Given the description of an element on the screen output the (x, y) to click on. 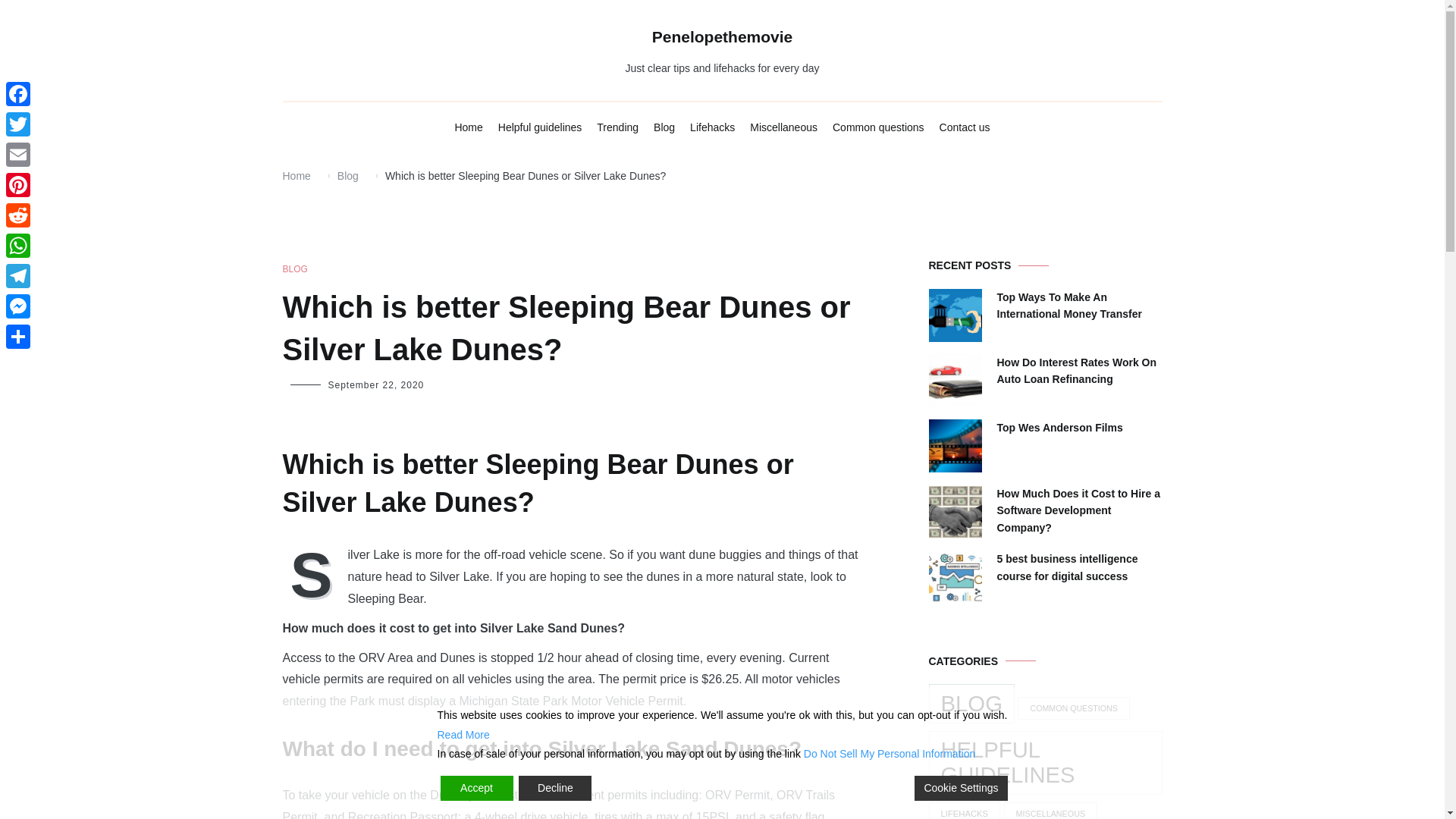
Reddit (17, 214)
September 22, 2020 (375, 385)
How Do Interest Rates Work On Auto Loan Refinancing (1078, 370)
BLOG (971, 703)
BLOG (294, 269)
HELPFUL GUIDELINES (1044, 762)
Helpful guidelines (539, 127)
Blog (347, 175)
Top Wes Anderson Films (1058, 427)
Top Ways To Make An International Money Transfer (1078, 305)
